Given the description of an element on the screen output the (x, y) to click on. 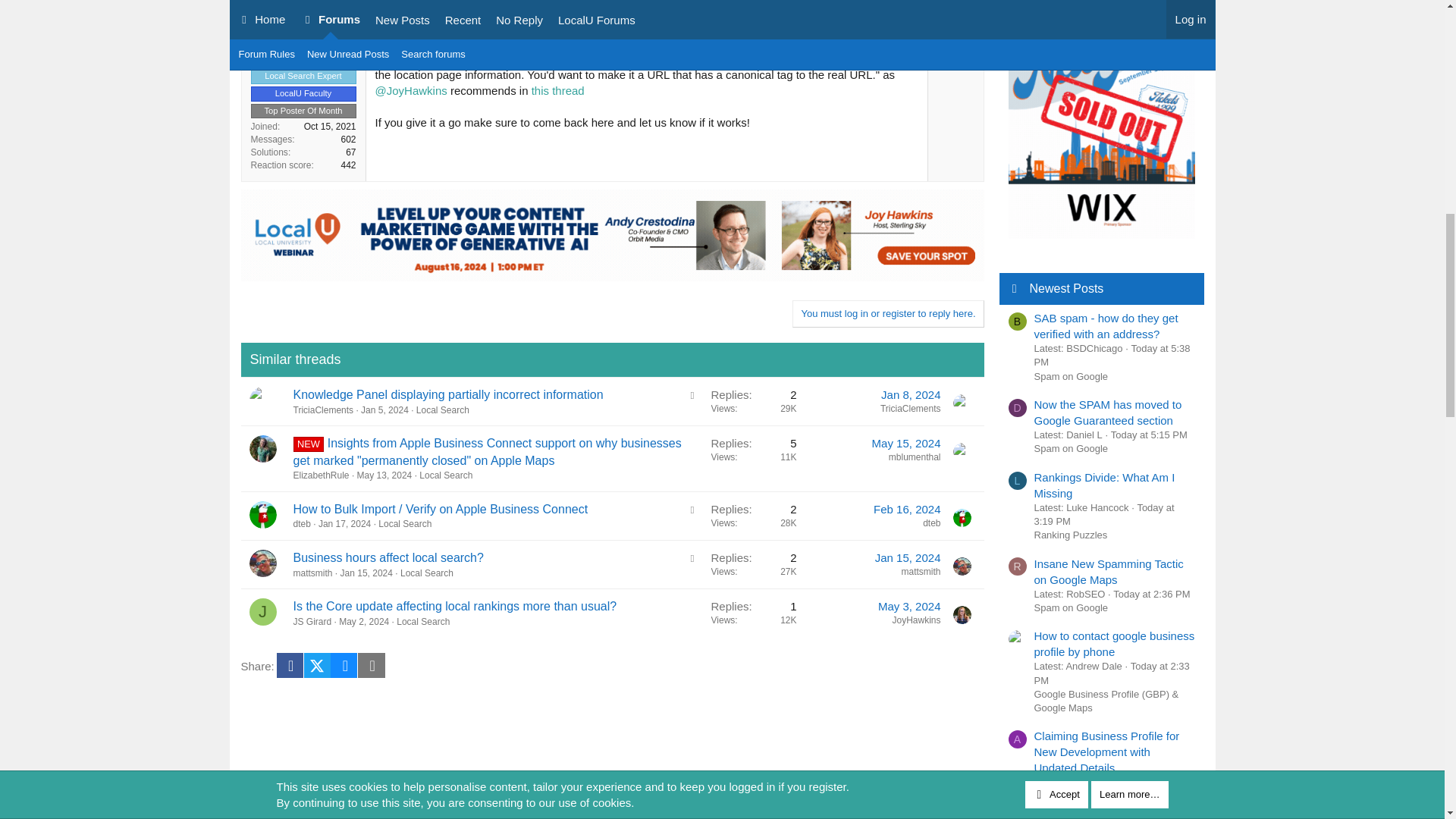
May 13, 2024 at 2:45 PM (384, 475)
Jan 15, 2024 at 12:22 PM (366, 573)
Jan 8, 2024 at 10:31 AM (910, 394)
First message reaction score: 0 (753, 564)
May 15, 2024 at 12:35 PM (906, 442)
First message reaction score: 0 (753, 401)
Jan 5, 2024 at 11:51 AM (385, 409)
First message reaction score: 0 (753, 515)
First message reaction score: 3 (753, 458)
Feb 16, 2024 at 10:10 AM (906, 508)
Jan 17, 2024 at 3:35 PM (344, 523)
